Given the description of an element on the screen output the (x, y) to click on. 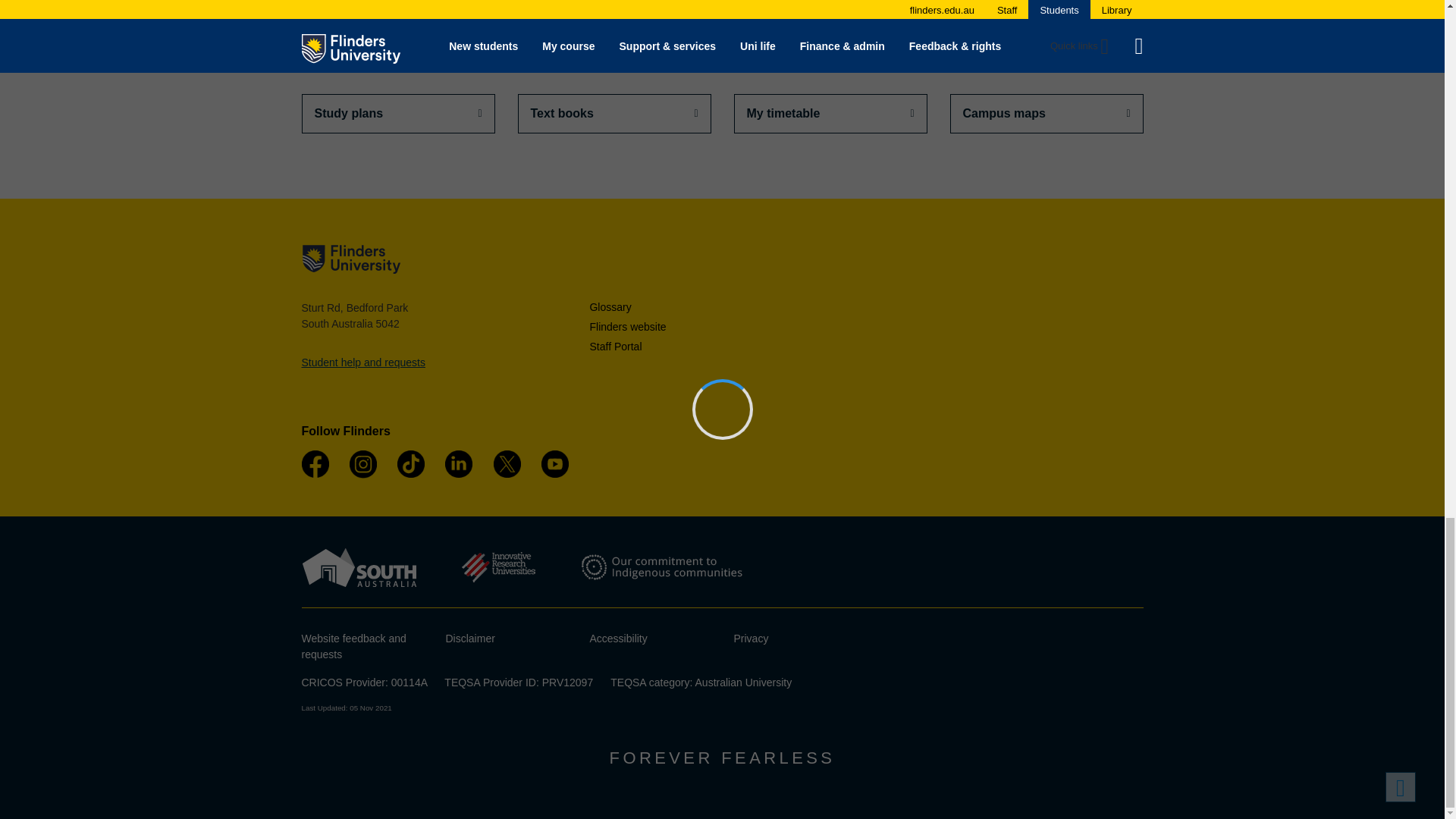
Accessibility (618, 638)
Copyright and disclaimer (470, 638)
Privacy (750, 638)
